Given the description of an element on the screen output the (x, y) to click on. 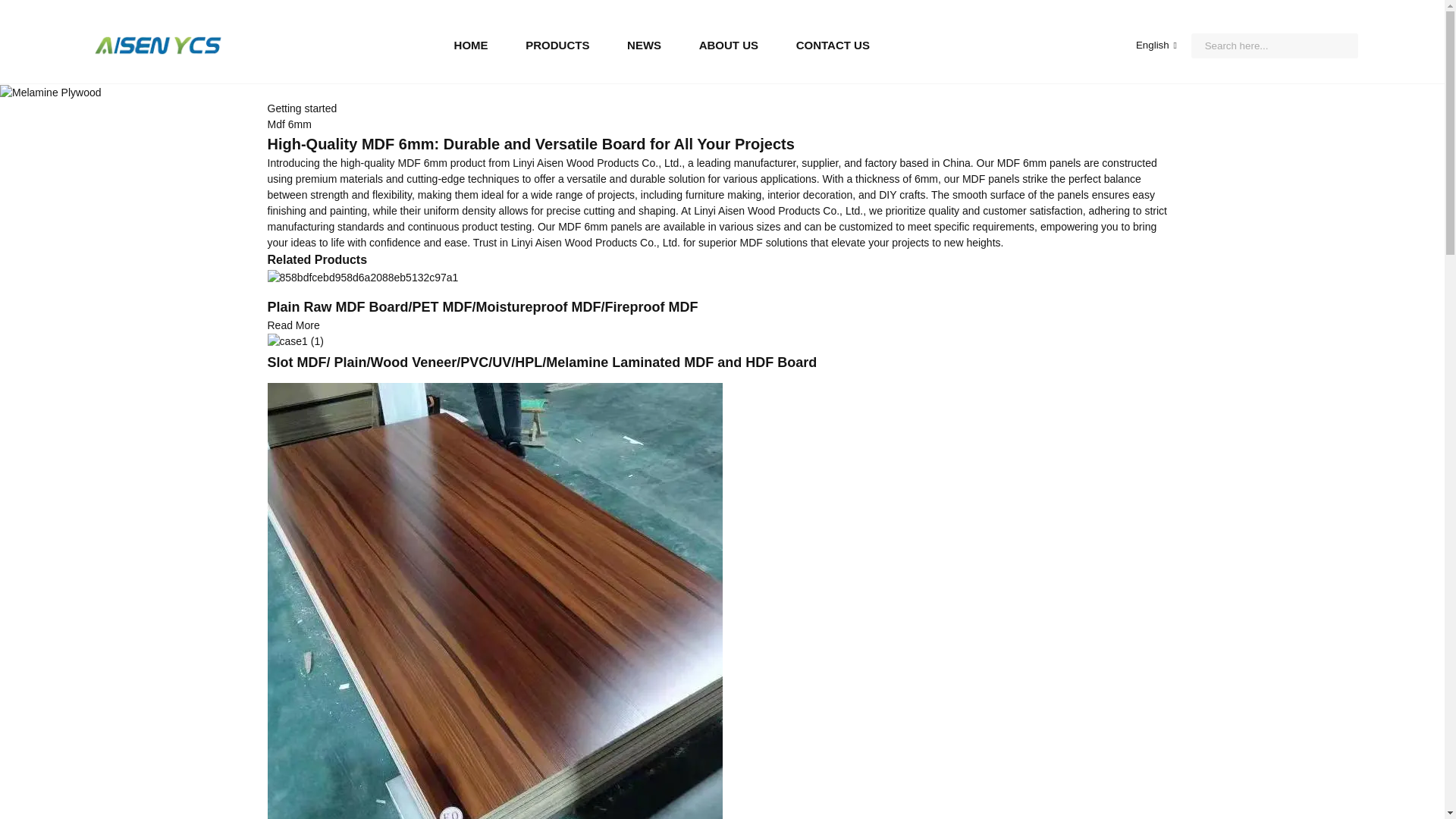
Mdf 6mm (288, 123)
English (1143, 44)
CONTACT US (832, 45)
PRODUCTS (557, 45)
ABOUT US (728, 45)
Getting started (301, 108)
Read More (292, 325)
